Given the description of an element on the screen output the (x, y) to click on. 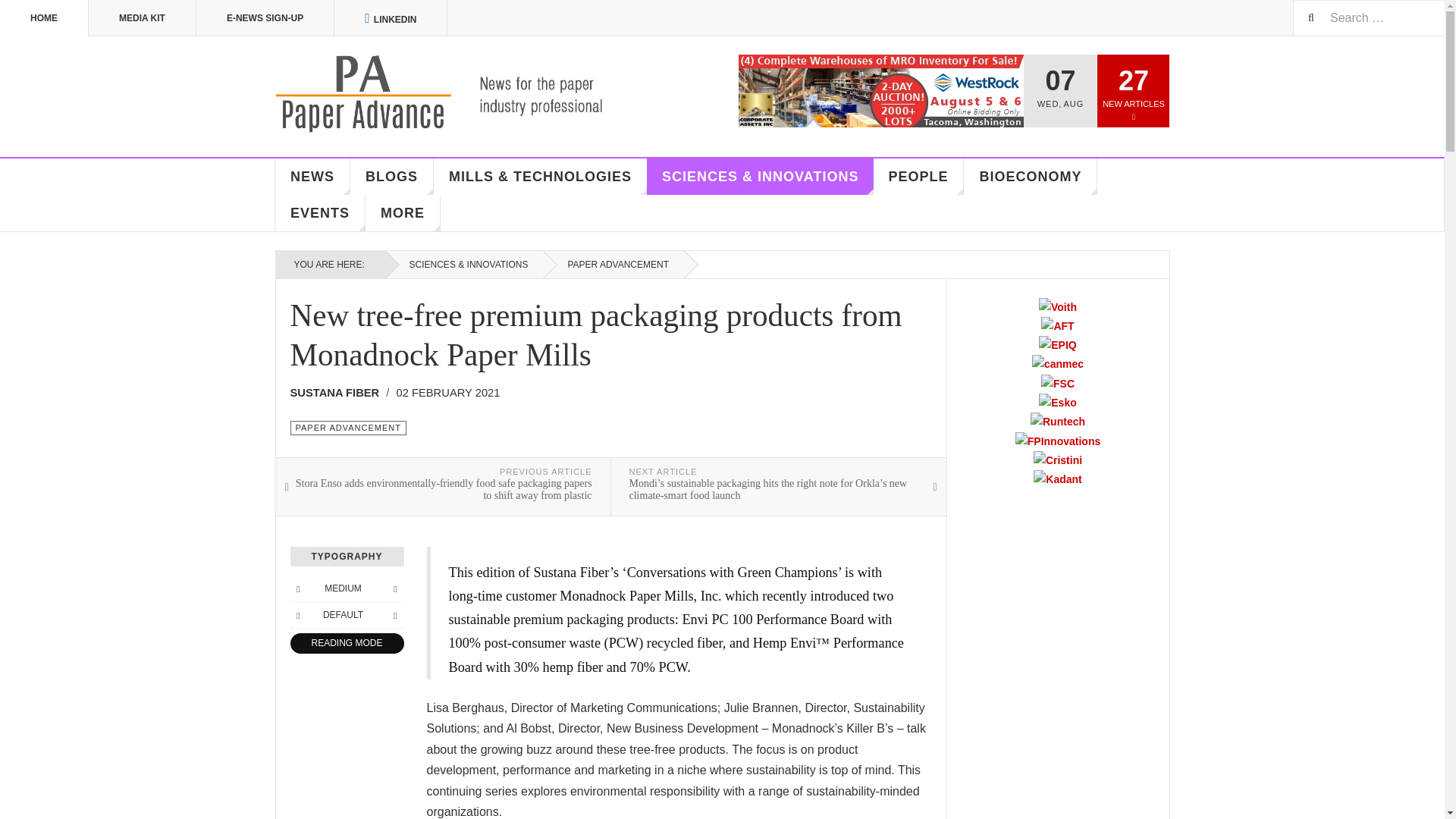
Paper Advance (461, 93)
HOME (44, 18)
E-NEWS SIGN-UP (265, 18)
MEDIA KIT (142, 18)
NEWS (312, 176)
LINKEDIN (390, 18)
